Given the description of an element on the screen output the (x, y) to click on. 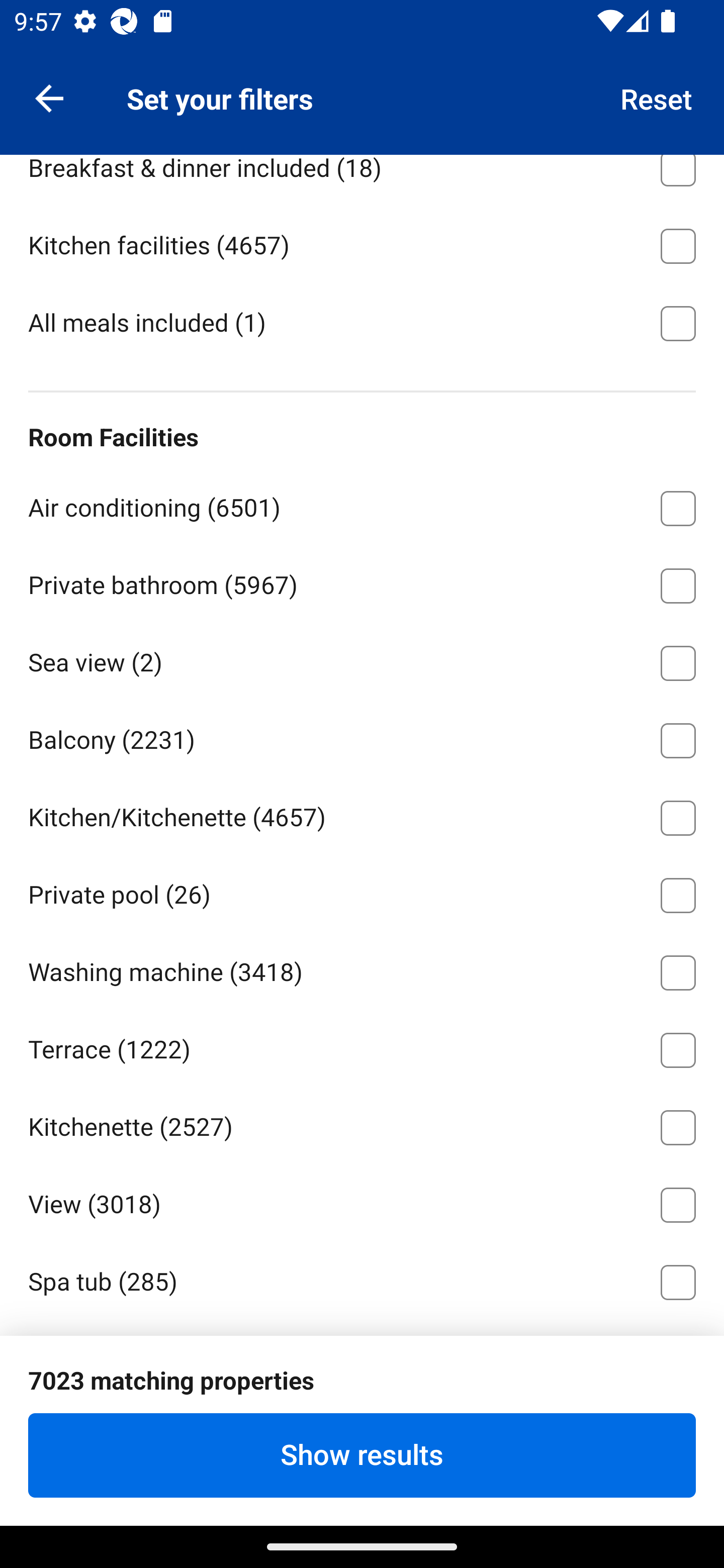
Navigate up (49, 97)
All-inclusive ⁦(1) (361, 87)
Reset (656, 97)
Breakfast & dinner included ⁦(18) (361, 179)
Kitchen facilities ⁦(4657) (361, 241)
All meals included ⁦(1) (361, 321)
Air conditioning ⁦(6501) (361, 504)
Private bathroom ⁦(5967) (361, 582)
Sea view ⁦(2) (361, 659)
Balcony ⁦(2231) (361, 737)
Kitchen/Kitchenette ⁦(4657) (361, 814)
Private pool ⁦(26) (361, 891)
Washing machine ⁦(3418) (361, 969)
Terrace ⁦(1222) (361, 1046)
Kitchenette ⁦(2527) (361, 1124)
View ⁦(3018) (361, 1201)
Spa tub ⁦(285) (361, 1278)
Show results (361, 1454)
